Given the description of an element on the screen output the (x, y) to click on. 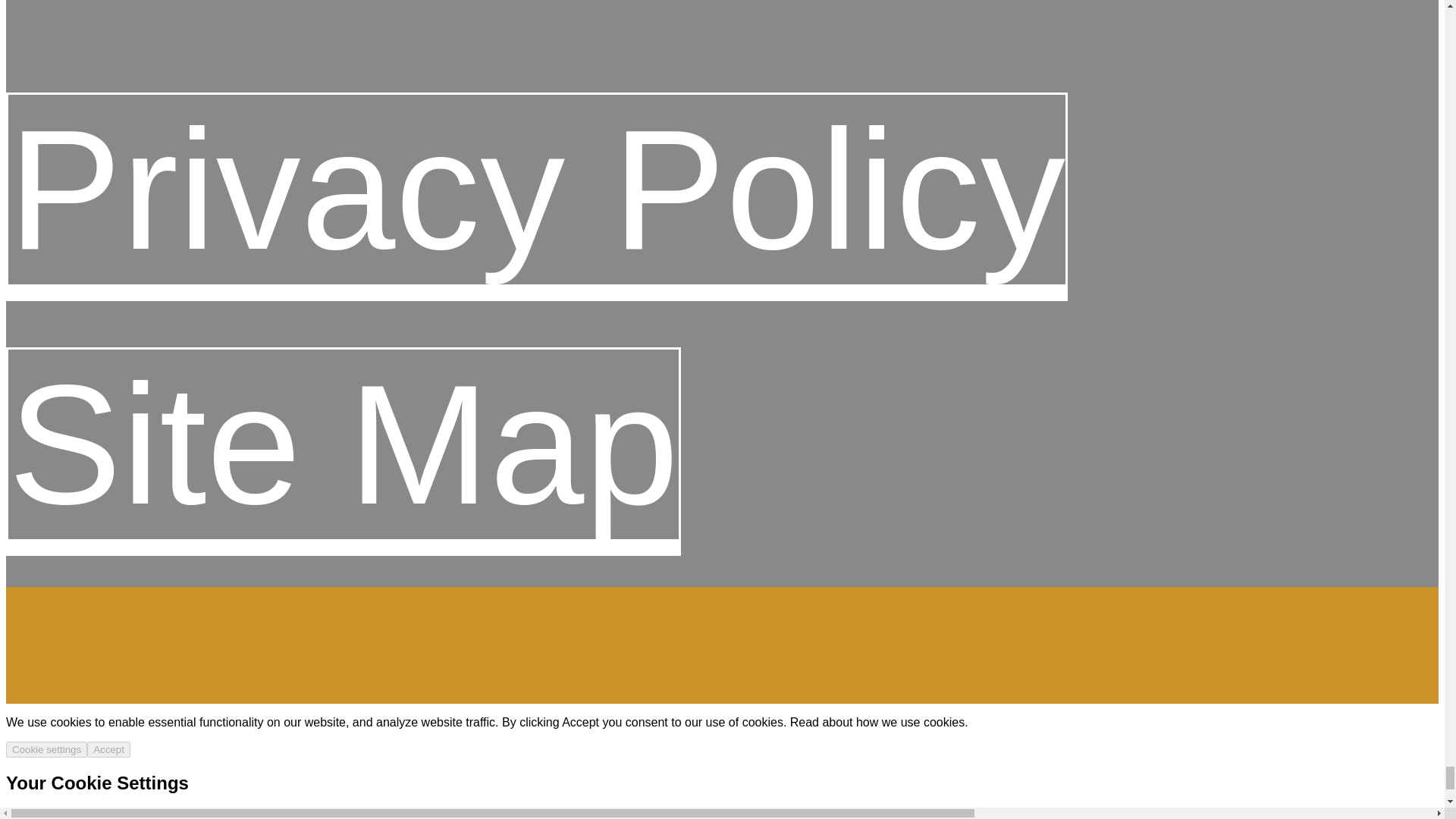
Read about how we use cookies. (879, 721)
Cookie settings (46, 749)
Read about how we use cookies (589, 814)
Accept (109, 749)
